Given the description of an element on the screen output the (x, y) to click on. 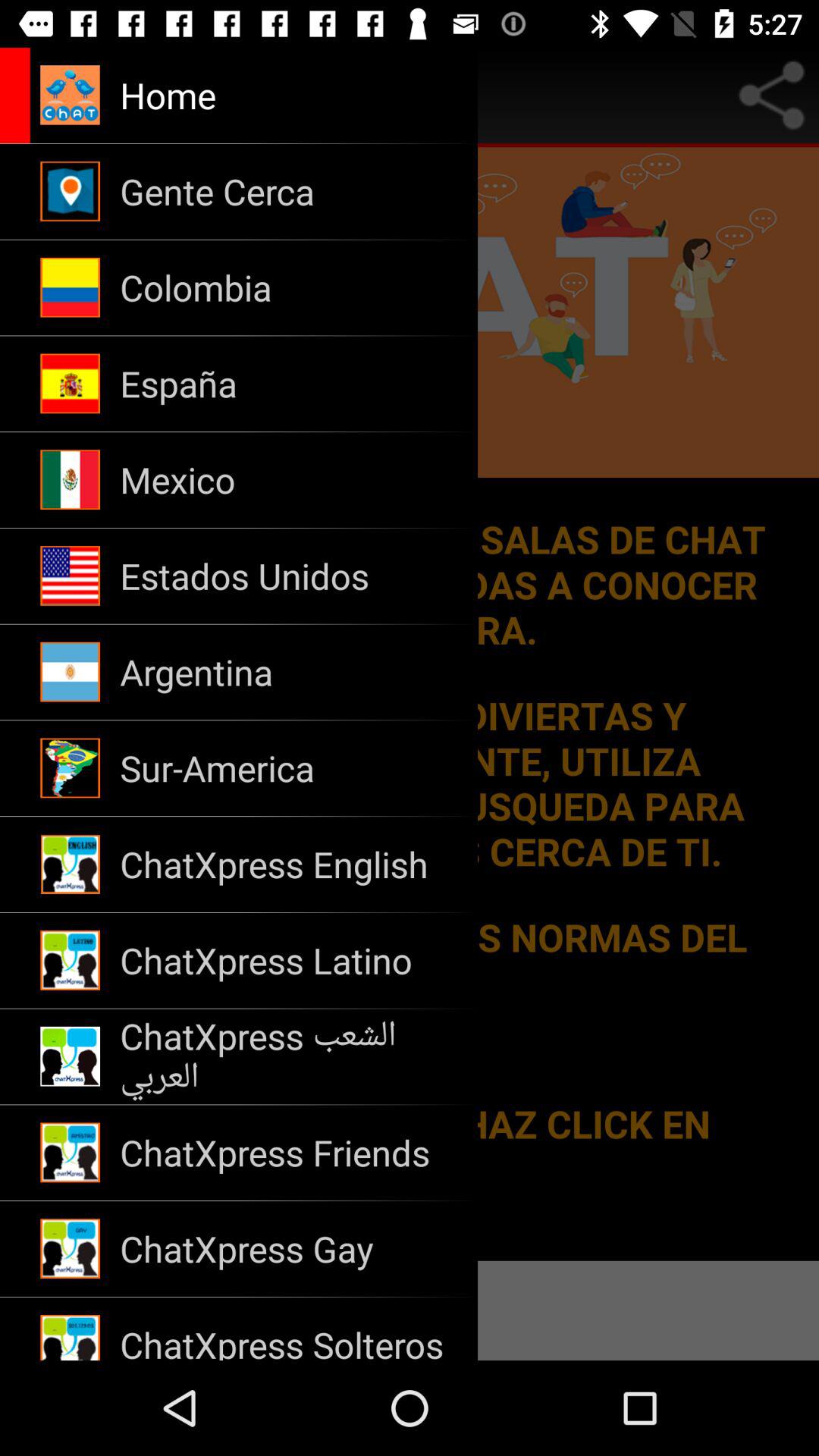
open icon below the sur-america app (288, 864)
